Given the description of an element on the screen output the (x, y) to click on. 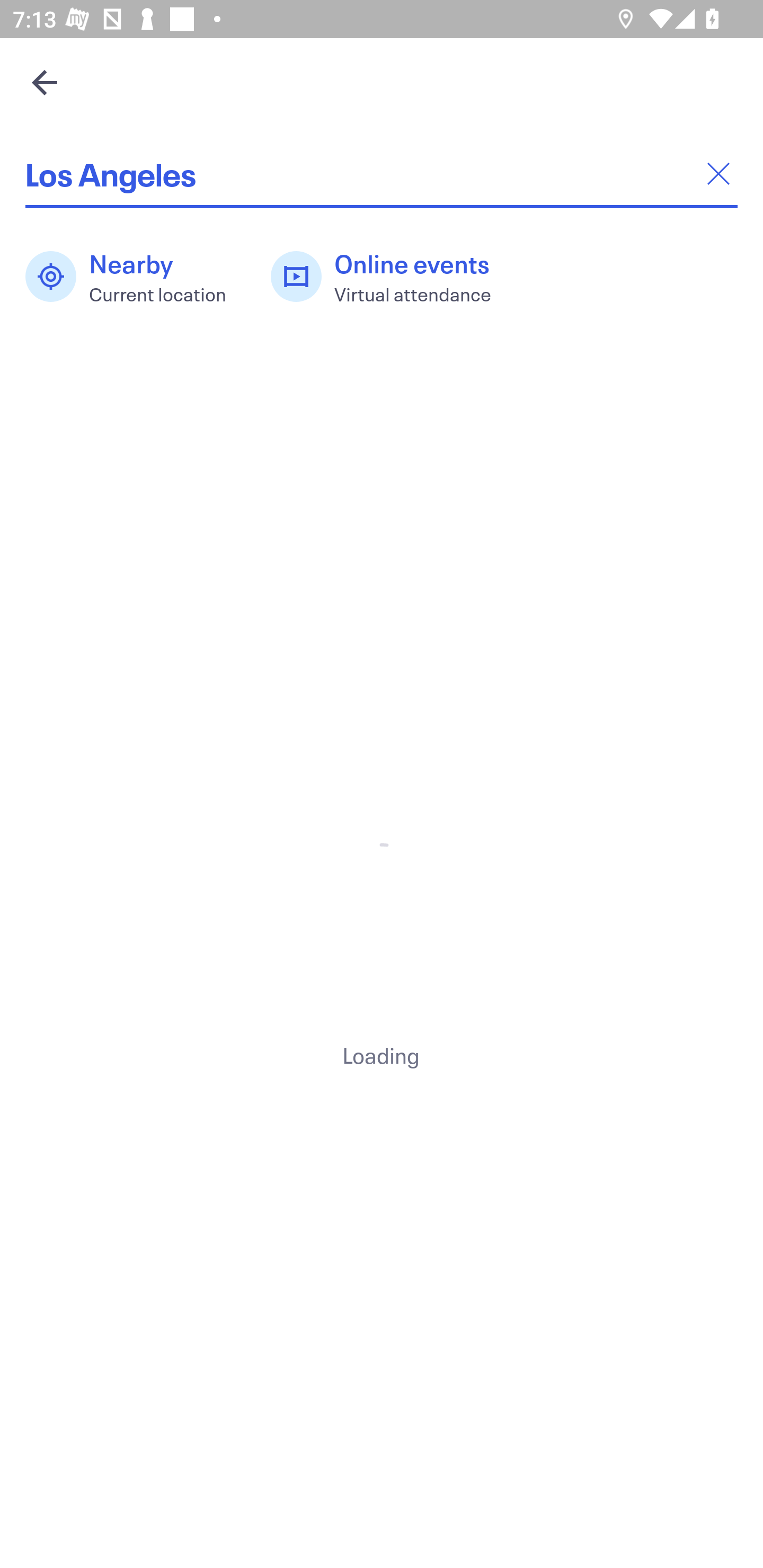
Navigate up (44, 82)
Los Angeles (381, 173)
Nearby Current location (135, 276)
Online events Virtual attendance (390, 276)
